Given the description of an element on the screen output the (x, y) to click on. 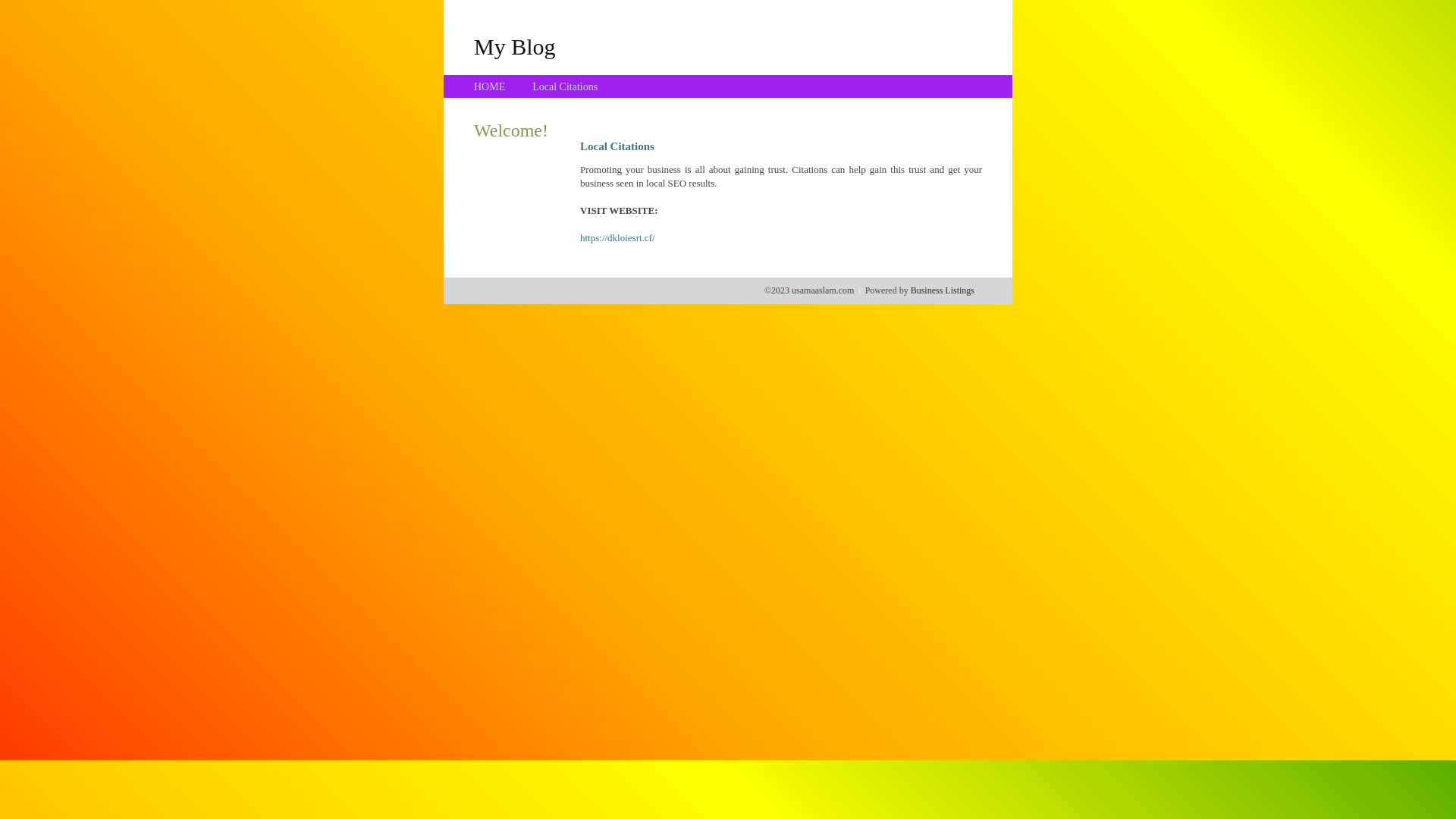
HOME Element type: text (489, 86)
My Blog Element type: text (514, 46)
Business Listings Element type: text (942, 290)
https://dkloiesrt.cf/ Element type: text (617, 237)
Local Citations Element type: text (564, 86)
